Given the description of an element on the screen output the (x, y) to click on. 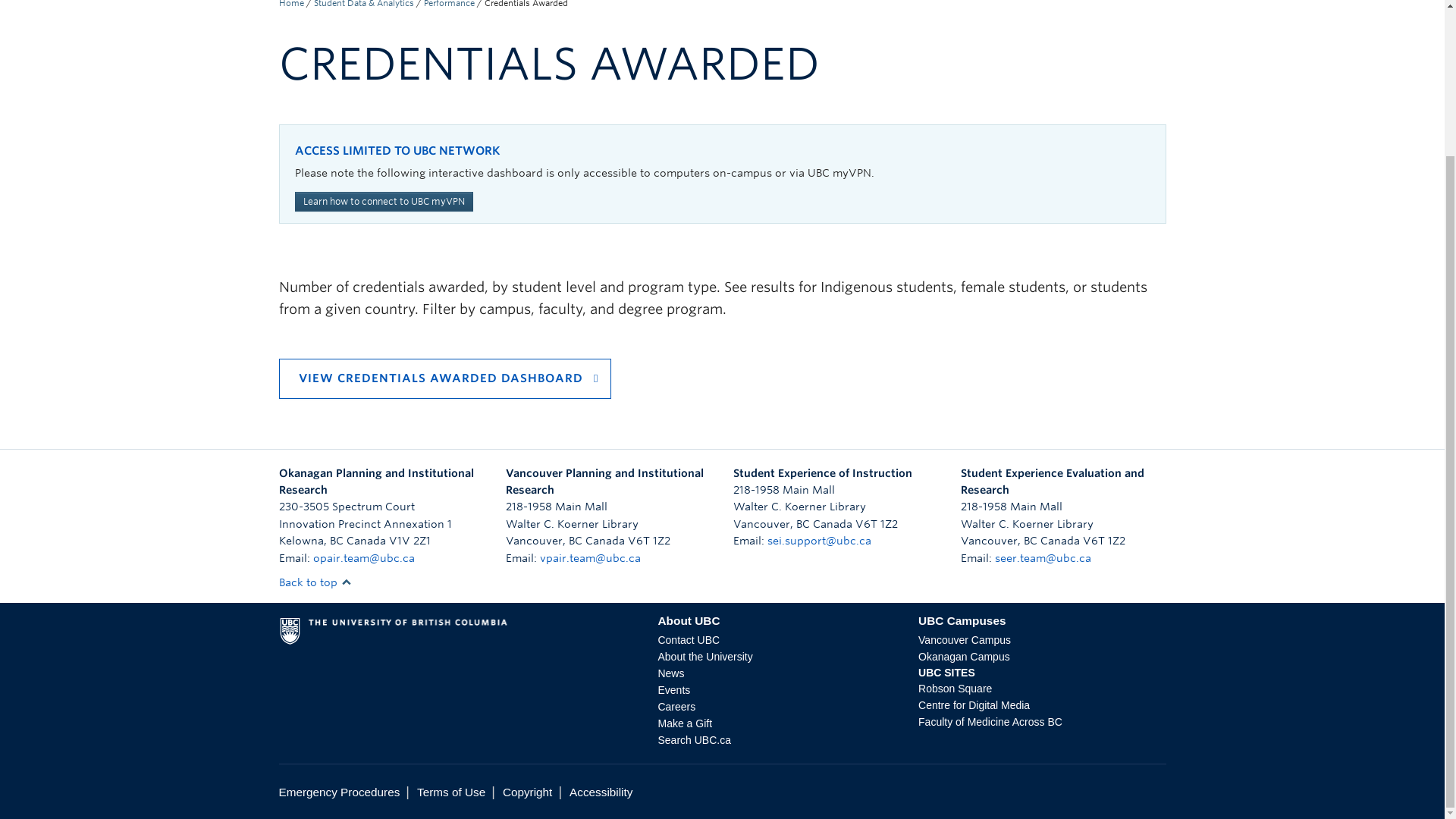
Performance (448, 4)
Back to top (315, 582)
Accessibility (600, 791)
Terms of Use (450, 791)
Emergency Procedures (339, 791)
UBC Copyright (526, 791)
